Given the description of an element on the screen output the (x, y) to click on. 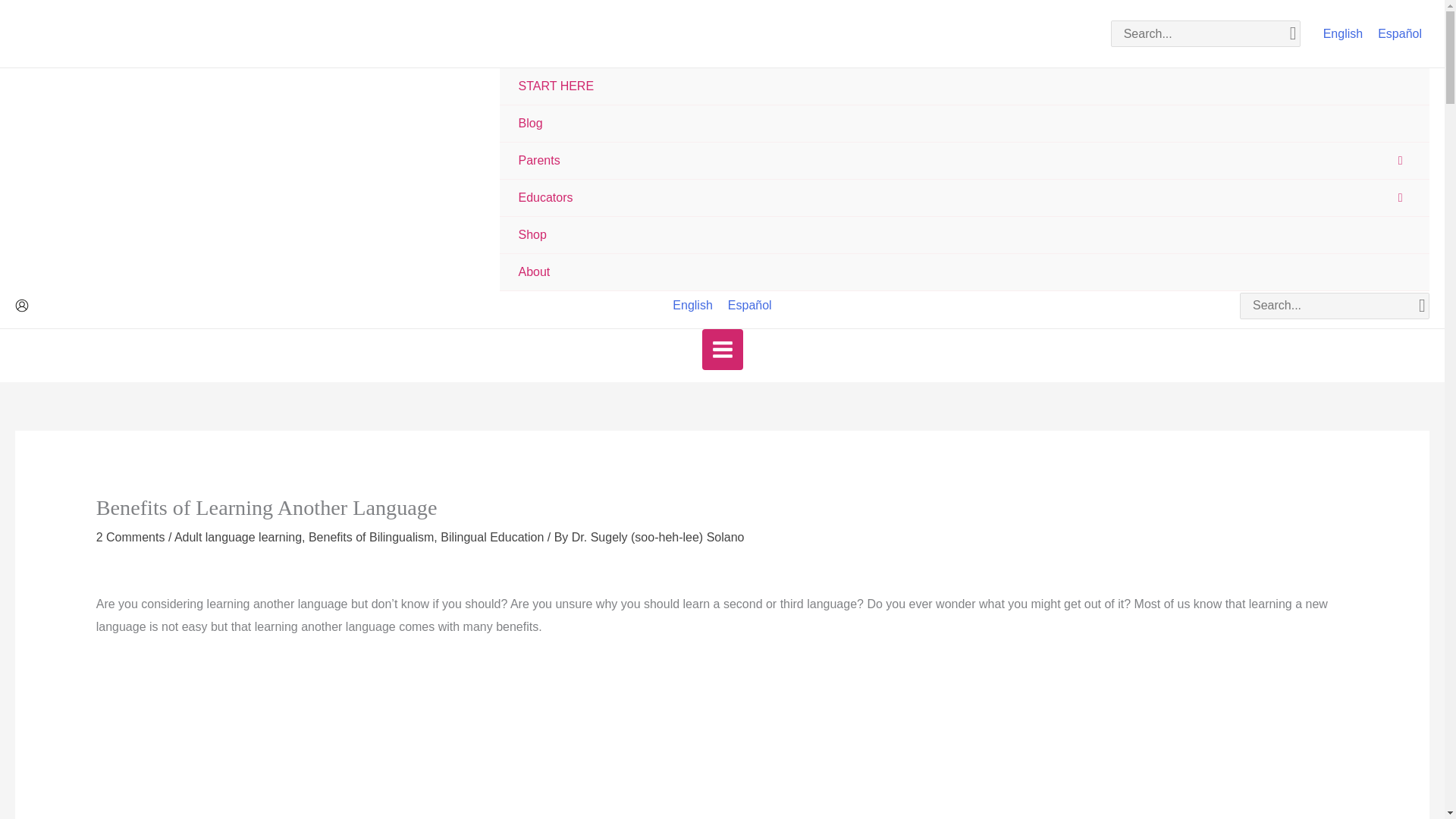
Blog (964, 123)
English (691, 305)
Main Menu (721, 349)
English (1342, 33)
Educators (964, 198)
About (964, 272)
Shop (964, 235)
START HERE (964, 86)
Parents (964, 160)
